Given the description of an element on the screen output the (x, y) to click on. 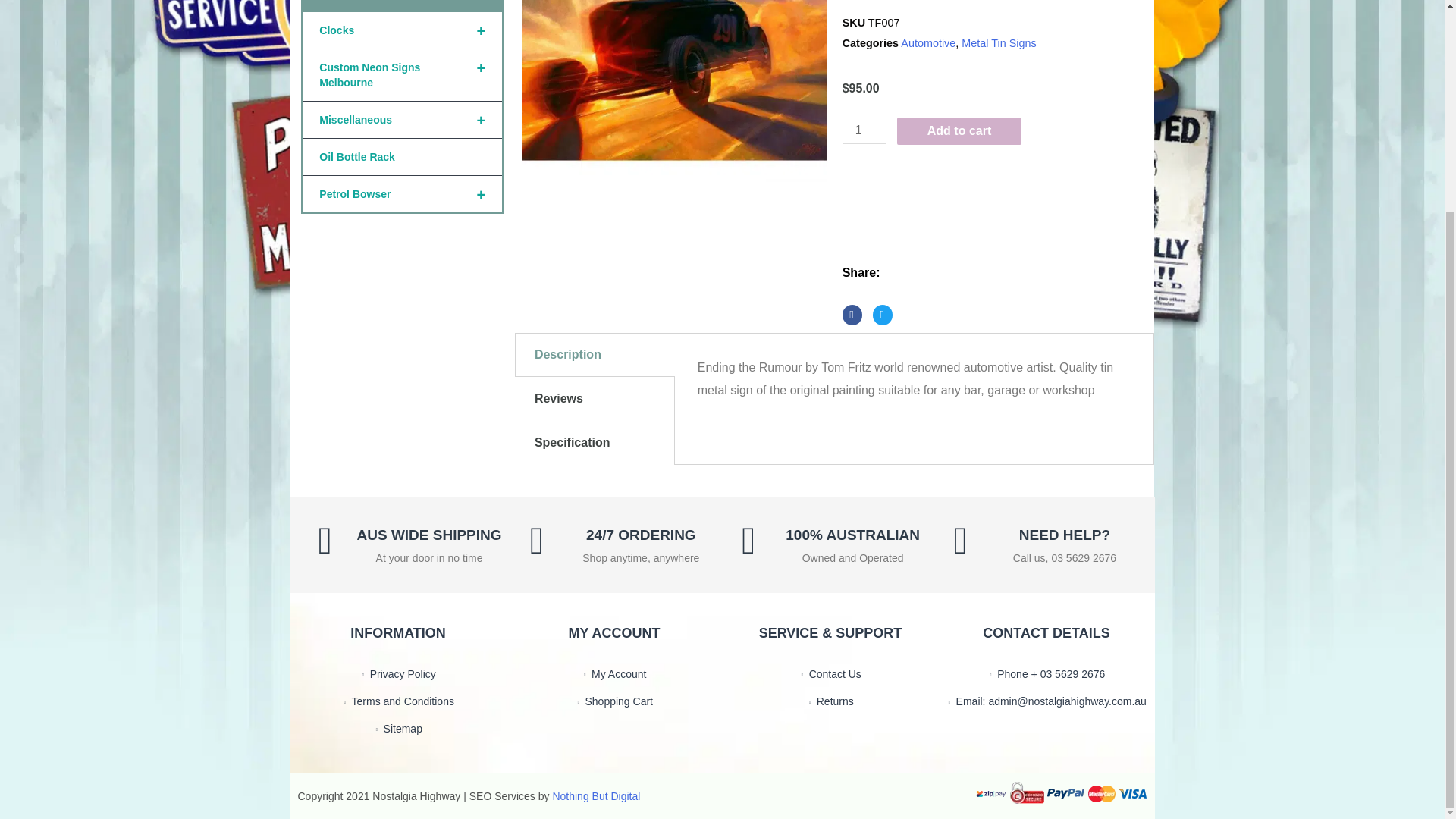
ending-the-rumour-tf007-650x483 (674, 90)
PayPal (995, 215)
PayPal (995, 173)
1 (864, 130)
